Given the description of an element on the screen output the (x, y) to click on. 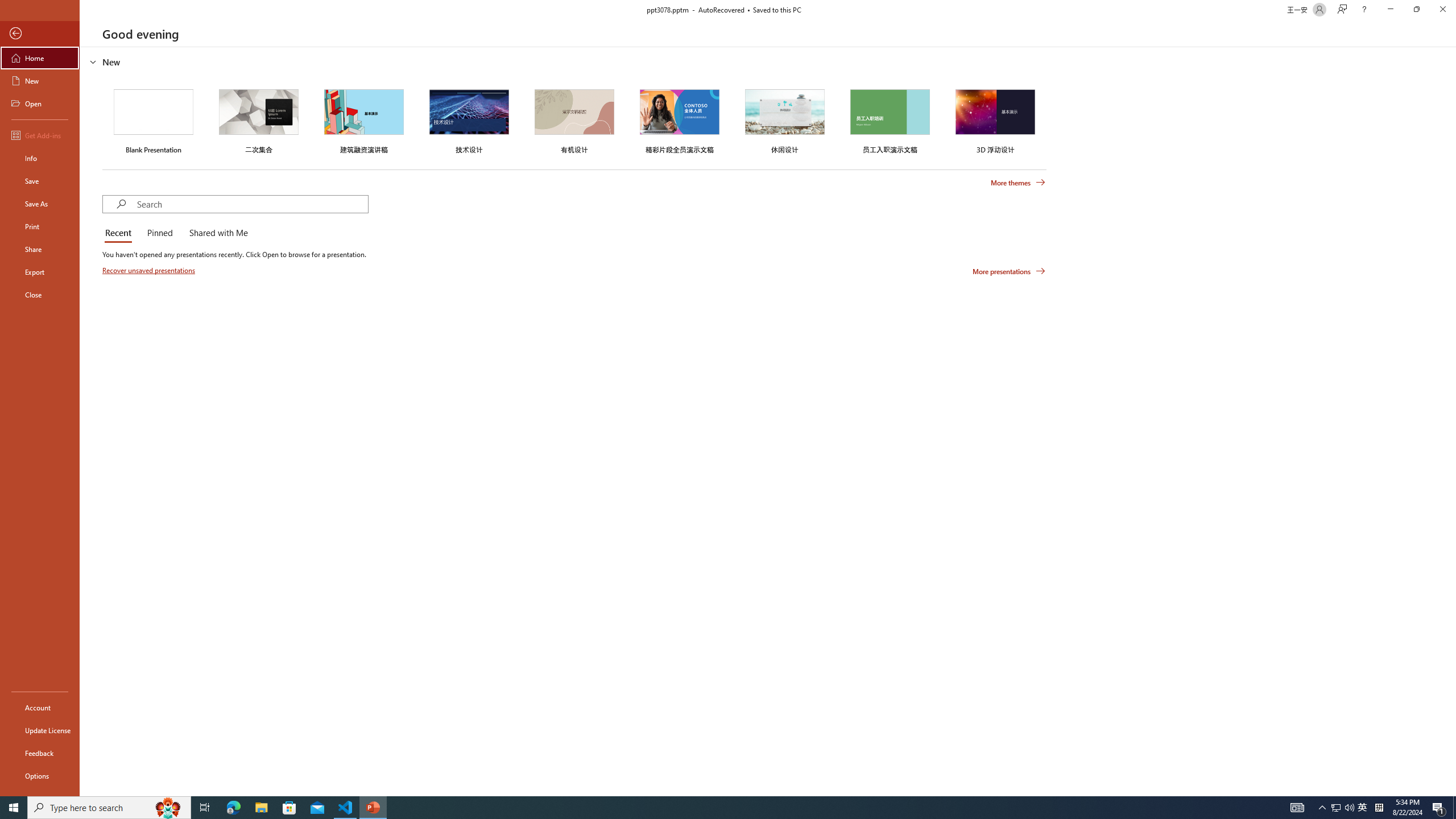
Back (40, 33)
Blank Presentation (153, 119)
Info (40, 157)
Print (40, 225)
New (40, 80)
Feedback (40, 753)
Pinned (159, 233)
Hide or show region (92, 61)
